Given the description of an element on the screen output the (x, y) to click on. 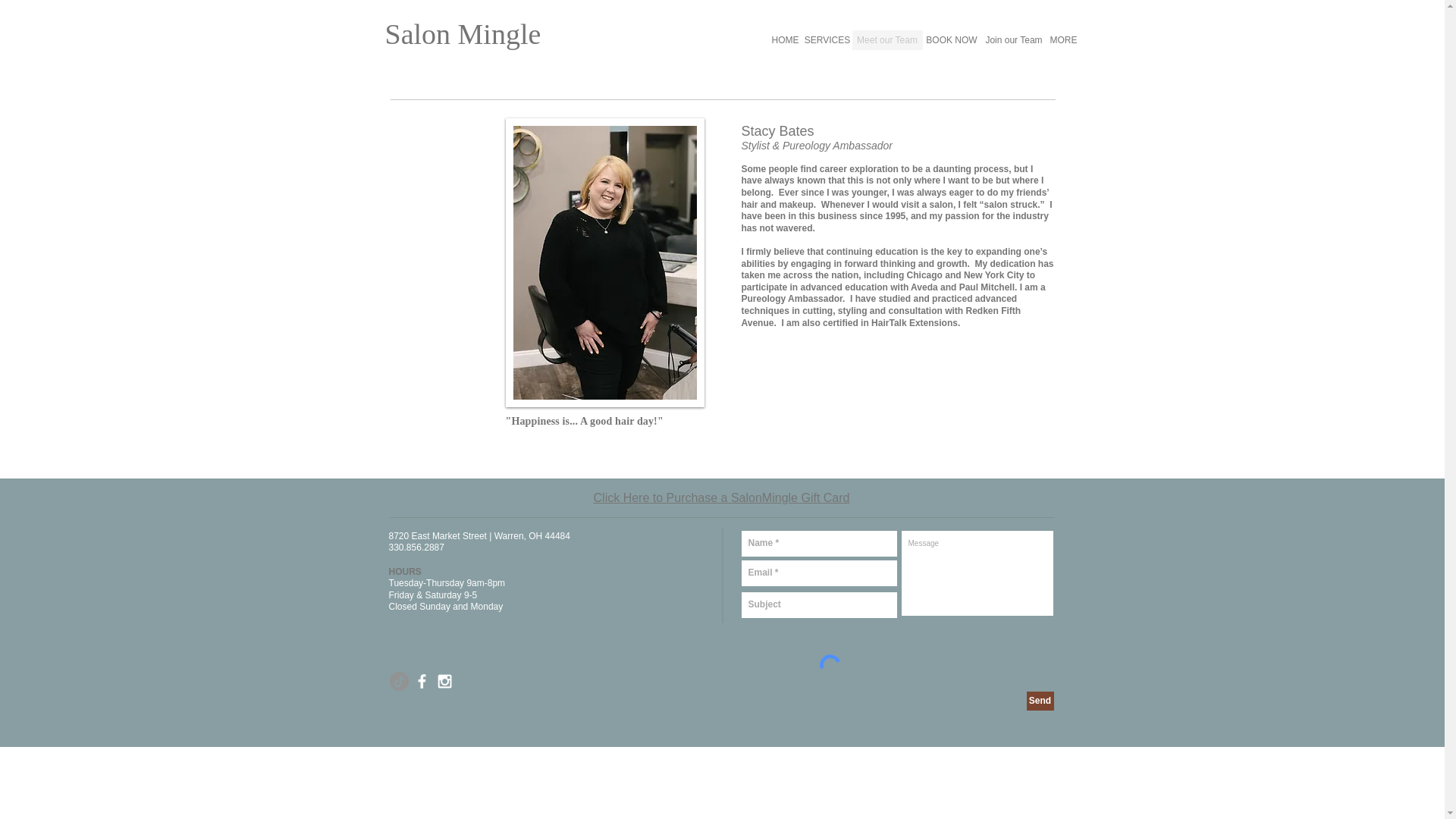
Join our Team (1013, 39)
SERVICES (826, 39)
Meet our Team (887, 39)
BOOK NOW (950, 39)
HOME (784, 39)
Click Here to Purchase a SalonMingle Gift Card (722, 497)
Salon Mingle (463, 33)
Send (1040, 700)
